Given the description of an element on the screen output the (x, y) to click on. 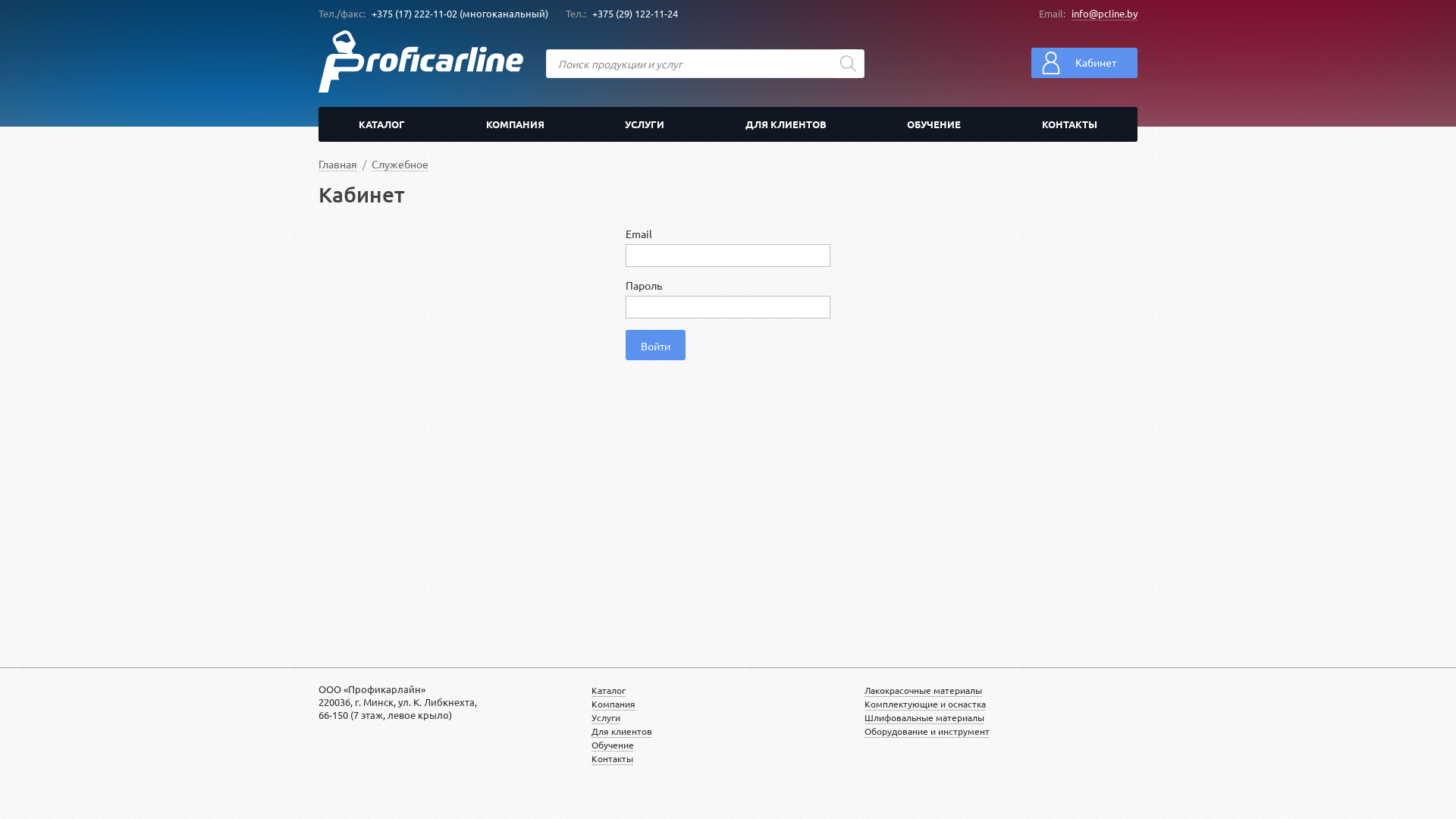
info@pcline.by Element type: text (1104, 13)
